Given the description of an element on the screen output the (x, y) to click on. 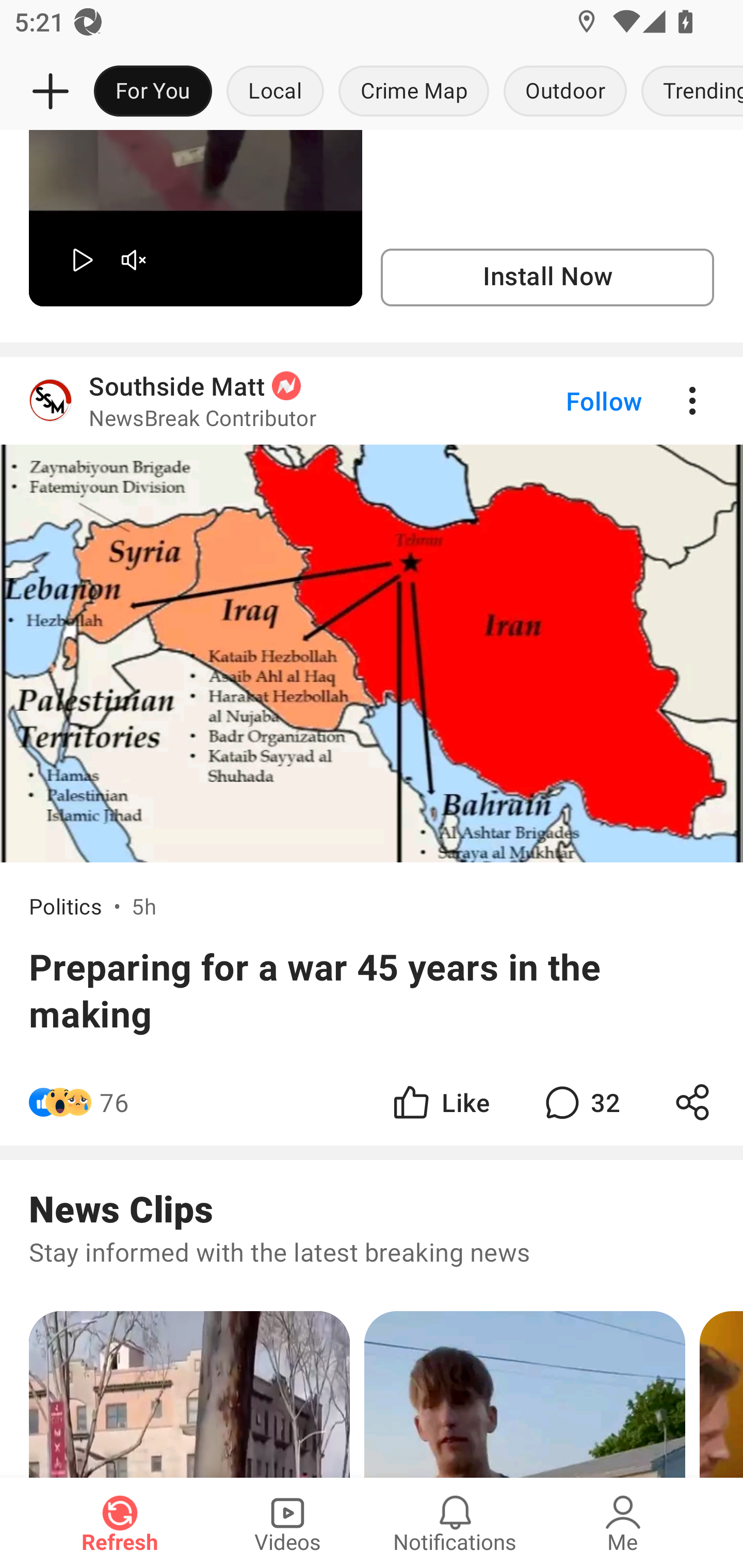
For You (152, 91)
Local (275, 91)
Crime Map (413, 91)
Outdoor (564, 91)
Trending (688, 91)
Install Now (547, 277)
Southside Matt NewsBreak Contributor Follow (371, 401)
Follow (569, 401)
76 (113, 1102)
Like (439, 1102)
32 (579, 1102)
Videos (287, 1522)
Notifications (455, 1522)
Me (622, 1522)
